Given the description of an element on the screen output the (x, y) to click on. 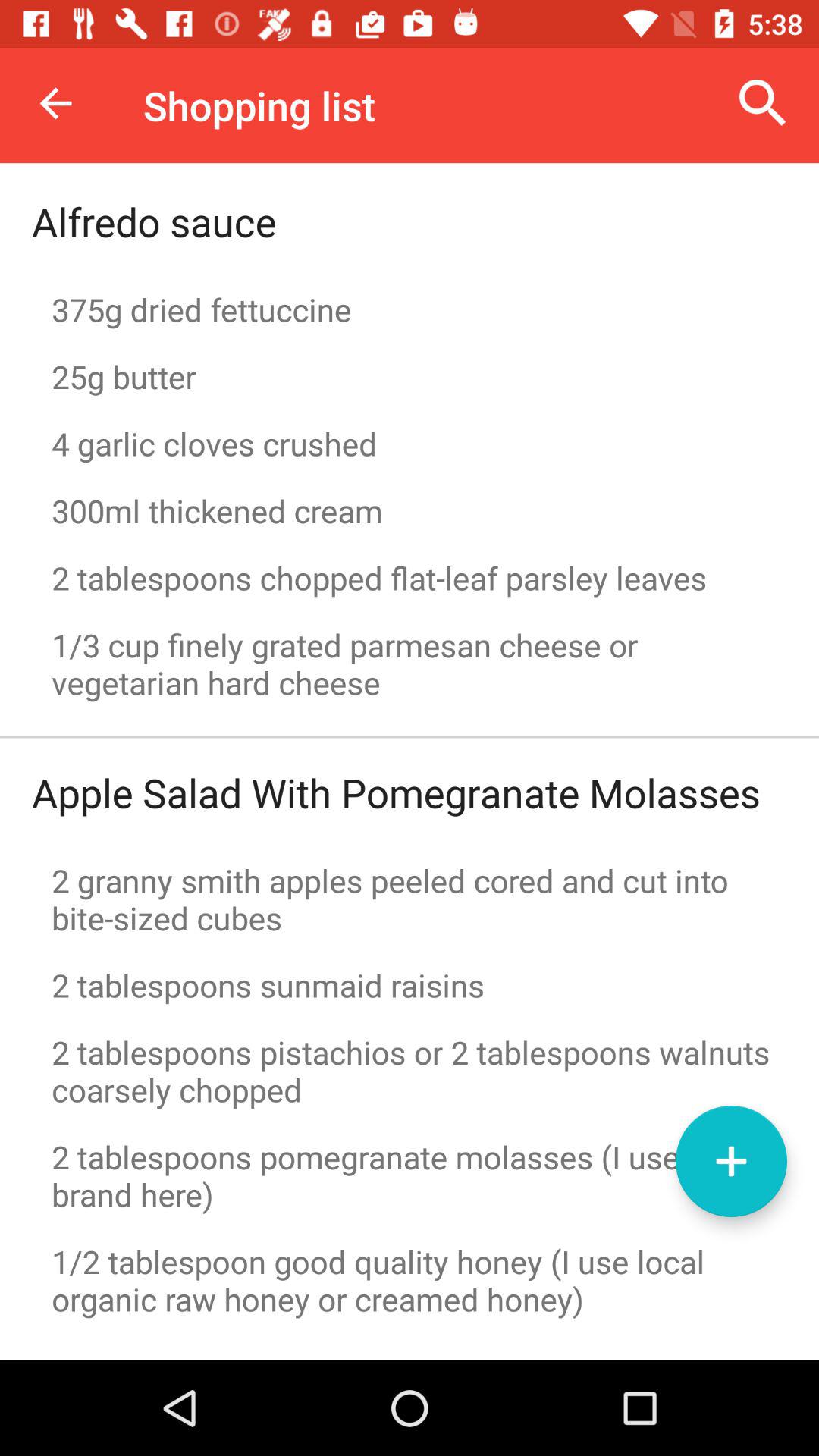
click on the  button (731, 1161)
click the search option (763, 103)
